Given the description of an element on the screen output the (x, y) to click on. 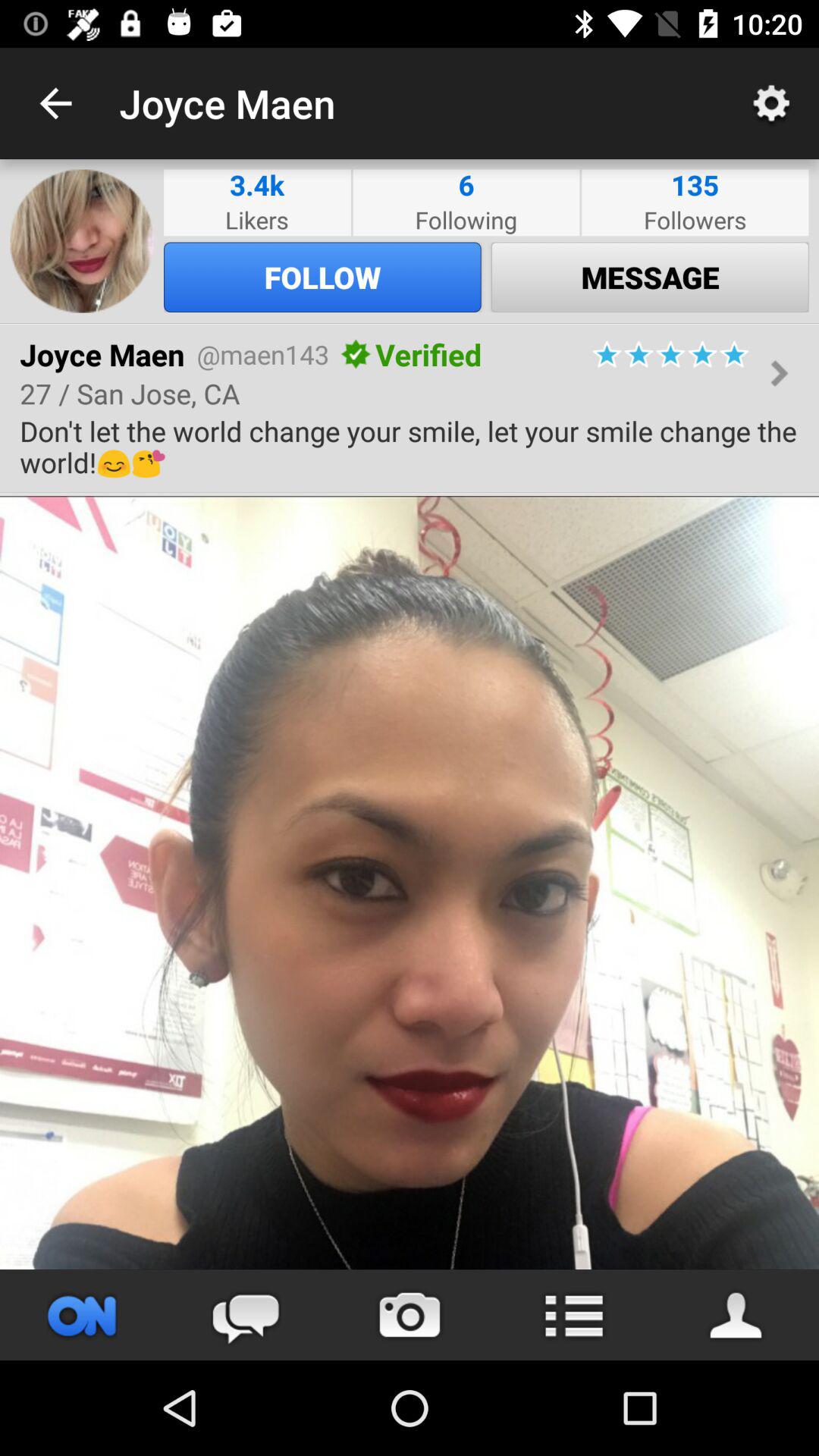
press to broadcast video (81, 1315)
